Given the description of an element on the screen output the (x, y) to click on. 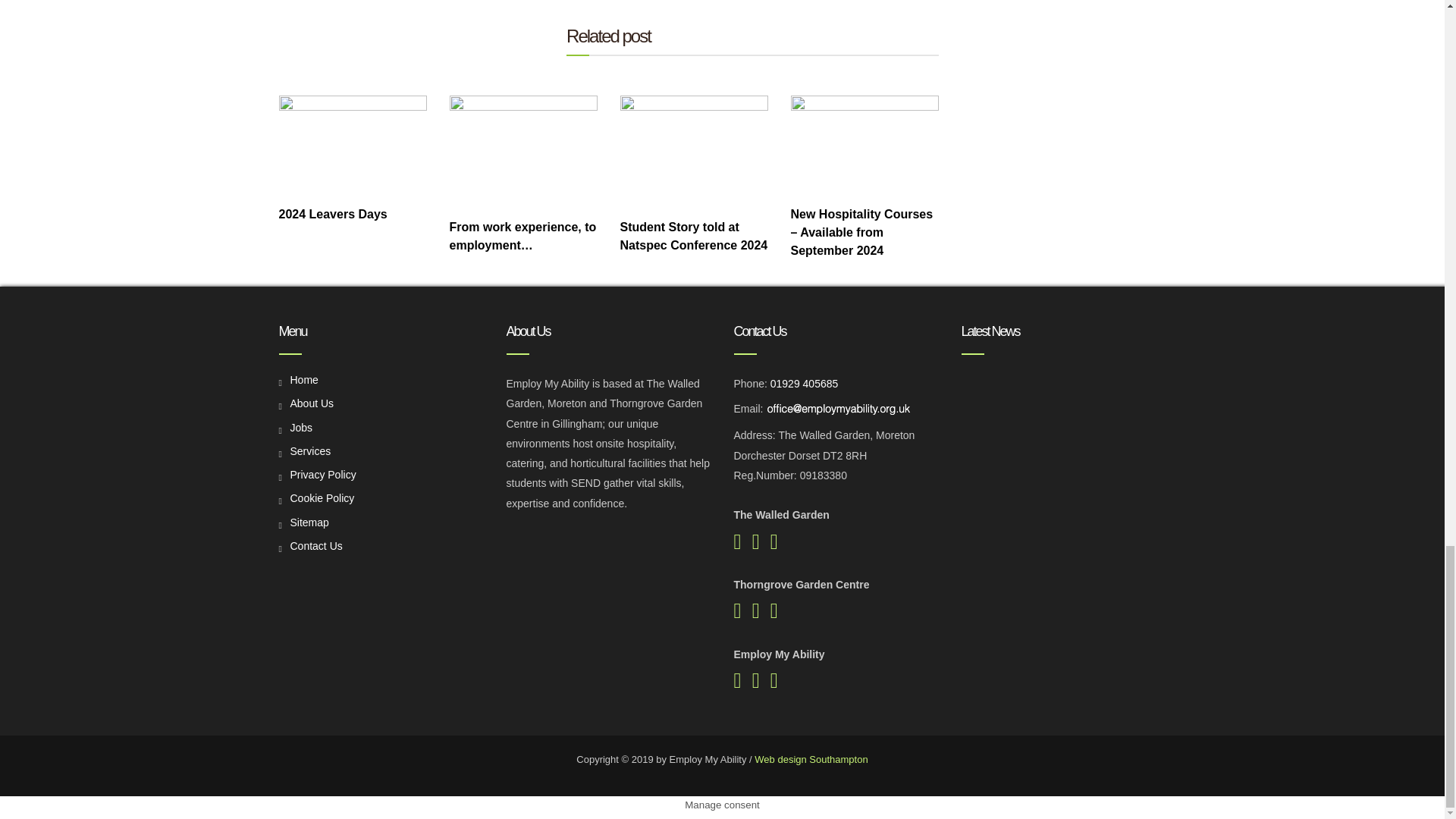
2024 Leavers Days (352, 144)
Student Story told at Natspec Conference 2024 (694, 150)
